Given the description of an element on the screen output the (x, y) to click on. 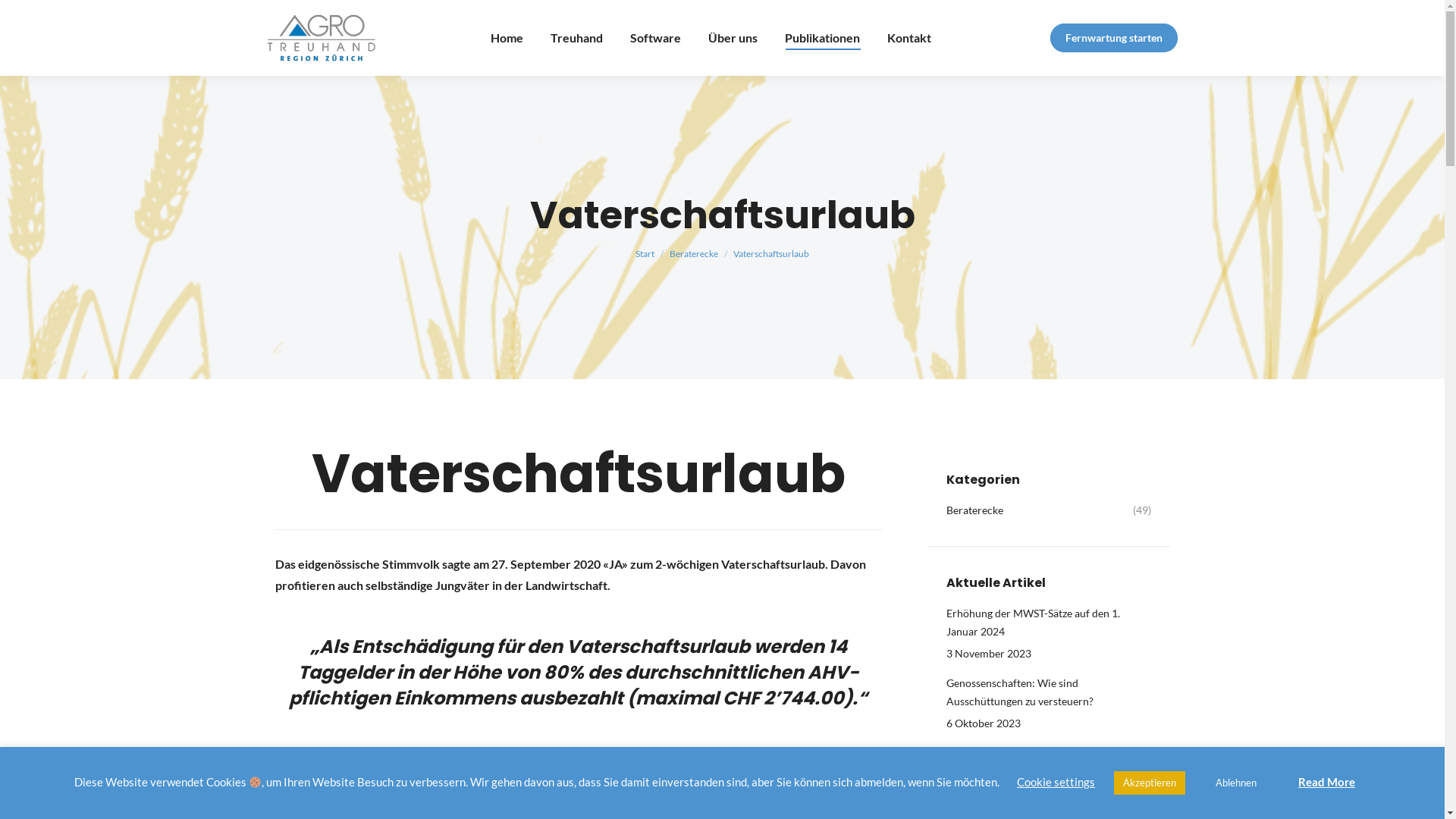
Treuhand Element type: text (576, 37)
Kommentar abschicken Element type: text (74, 16)
Beraterecke Element type: text (693, 253)
Cookie settings Element type: text (1055, 781)
Read More Element type: text (1326, 781)
Software Element type: text (654, 37)
Fernwartung starten Element type: text (1112, 37)
Zahlungsverkehr und Buchhaltung Element type: text (1027, 752)
Akzeptieren Element type: text (1149, 782)
Kontakt Element type: text (909, 37)
Ablehnen Element type: text (1235, 782)
Publikationen Element type: text (821, 37)
Start Element type: text (644, 253)
Home Element type: text (505, 37)
